Given the description of an element on the screen output the (x, y) to click on. 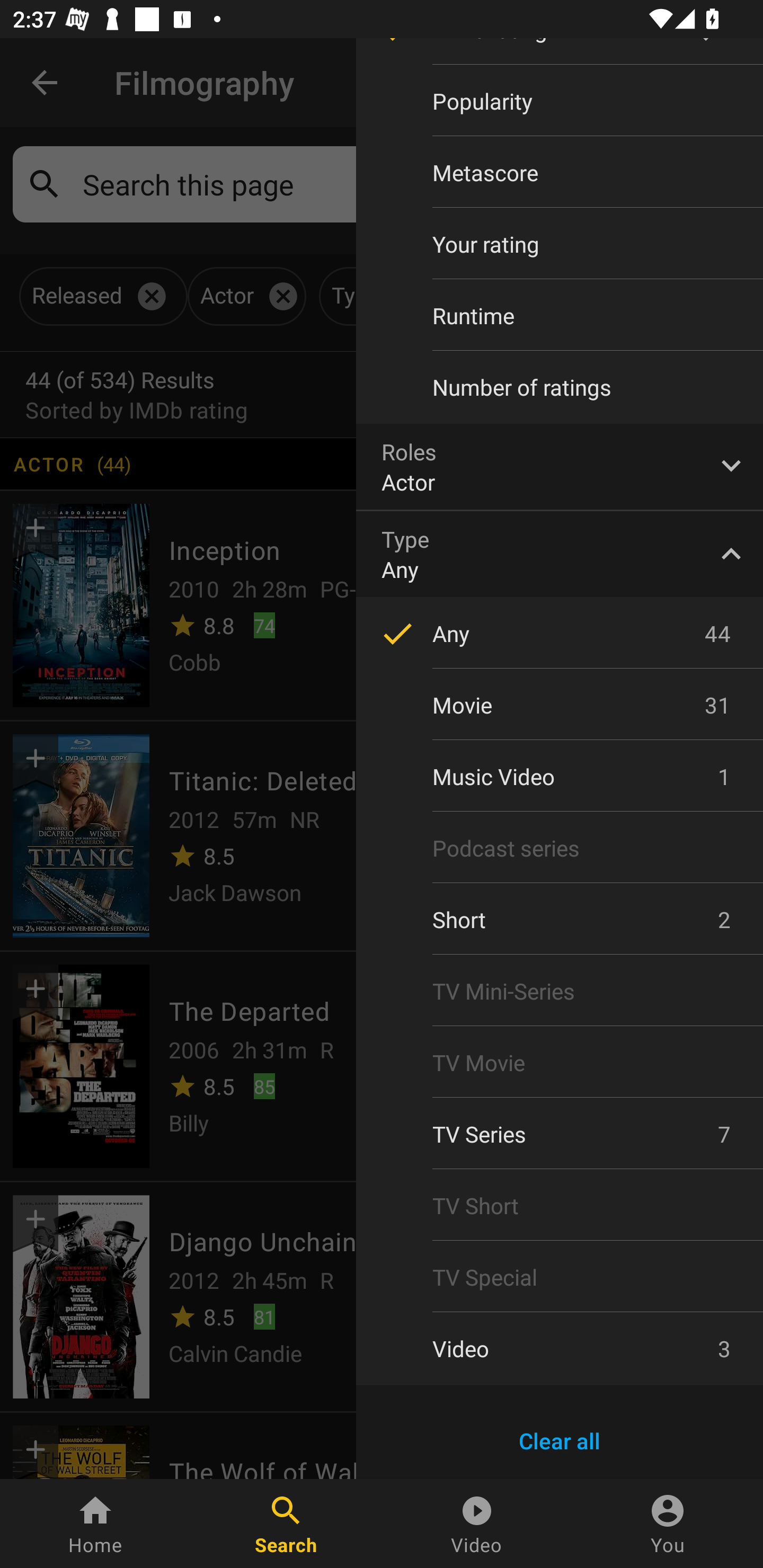
Popularity (559, 100)
Metascore (559, 171)
Your rating (559, 243)
Runtime (559, 315)
Number of ratings (559, 386)
Roles Actor (559, 466)
Type Any (559, 554)
Any 44 (559, 632)
Movie 31 (559, 704)
Music Video 1 (559, 776)
Podcast series (559, 847)
Short 2 (559, 919)
TV Mini-Series (559, 990)
TV Movie (559, 1062)
TV Series 7 (559, 1134)
TV Short (559, 1205)
TV Special (559, 1276)
Video 3 (559, 1347)
Clear all (559, 1440)
Home (95, 1523)
Video (476, 1523)
You (667, 1523)
